Given the description of an element on the screen output the (x, y) to click on. 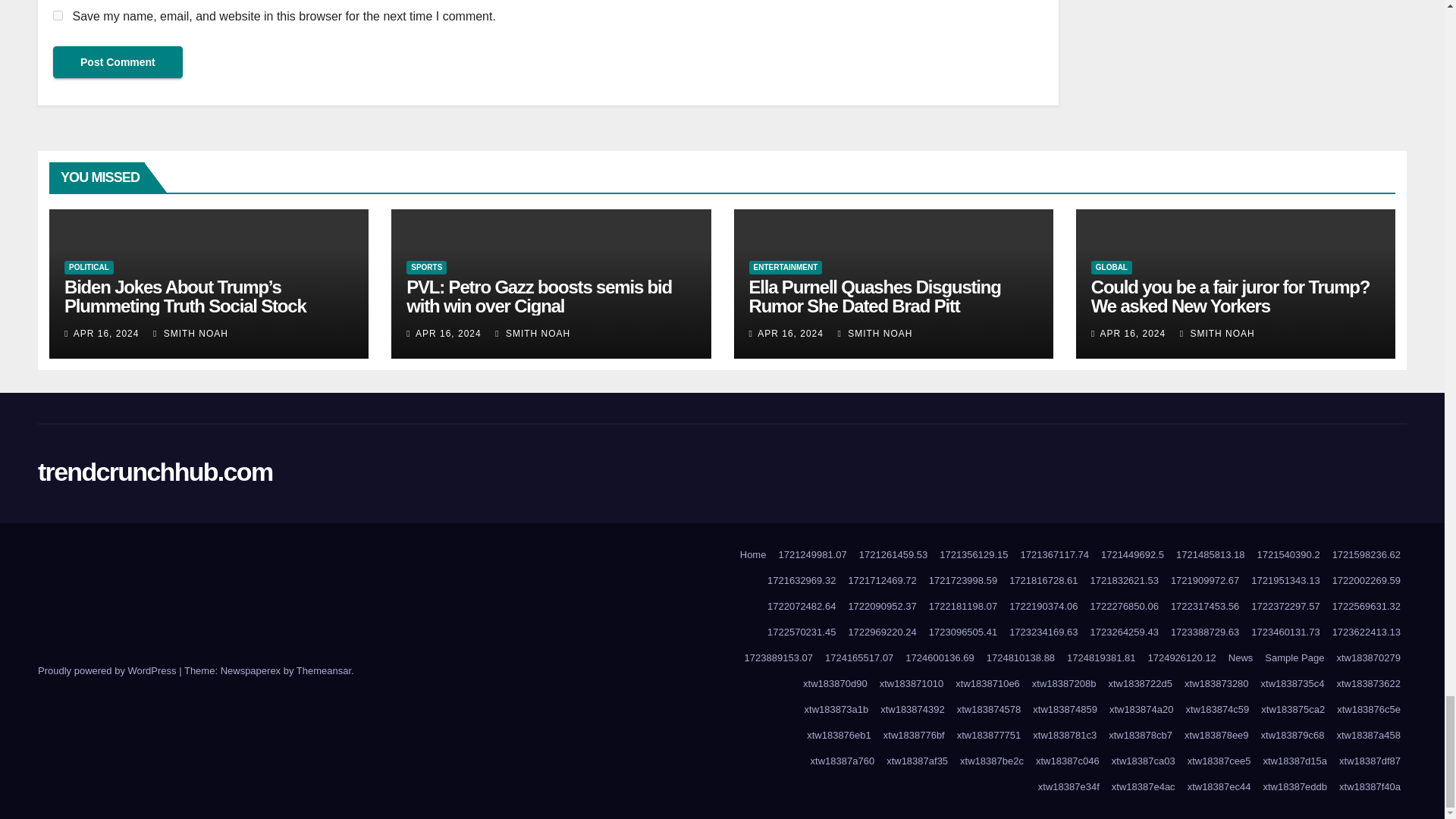
Post Comment (117, 61)
yes (57, 15)
